Given the description of an element on the screen output the (x, y) to click on. 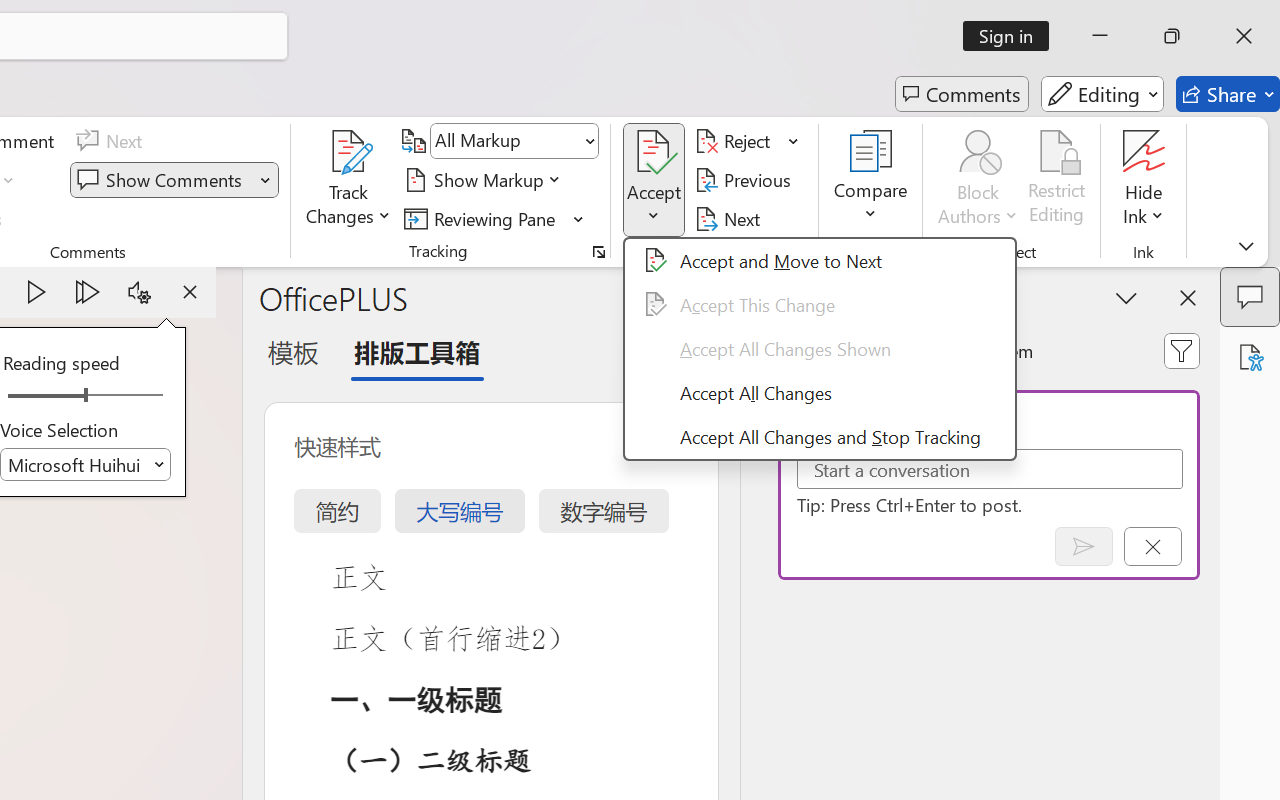
Post comment (Ctrl + Enter) (1083, 546)
Restrict Editing (1057, 179)
Stop (190, 292)
Filter (1181, 350)
Accept (653, 179)
Accept and Move to Next (653, 151)
Block Authors (977, 151)
&Accept (820, 348)
Reject (747, 141)
